Given the description of an element on the screen output the (x, y) to click on. 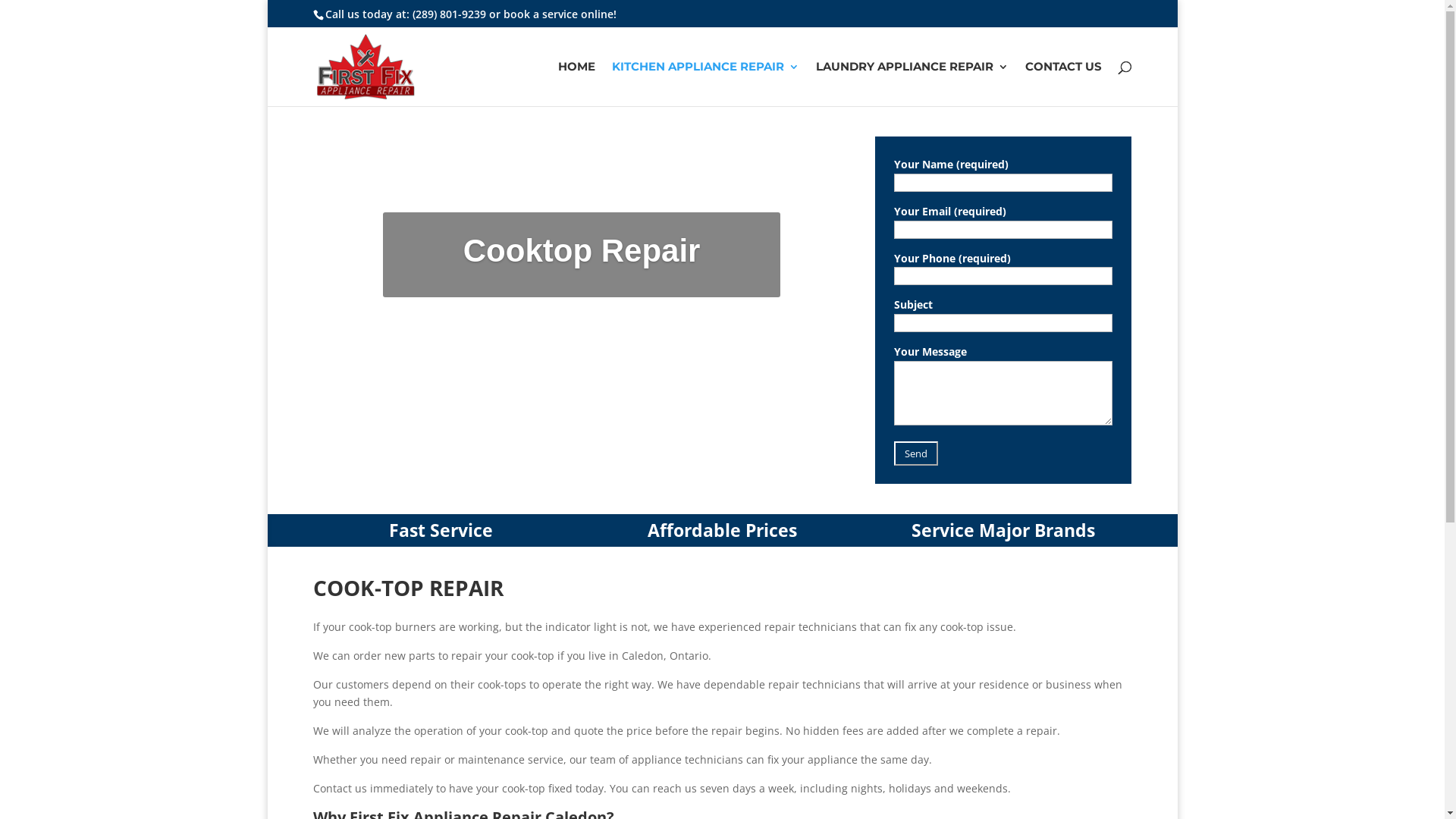
LAUNDRY APPLIANCE REPAIR Element type: text (911, 83)
CONTACT US Element type: text (1063, 83)
Send Element type: text (916, 453)
(289) 801-9239 Element type: text (449, 13)
HOME Element type: text (576, 83)
KITCHEN APPLIANCE REPAIR Element type: text (704, 83)
